Given the description of an element on the screen output the (x, y) to click on. 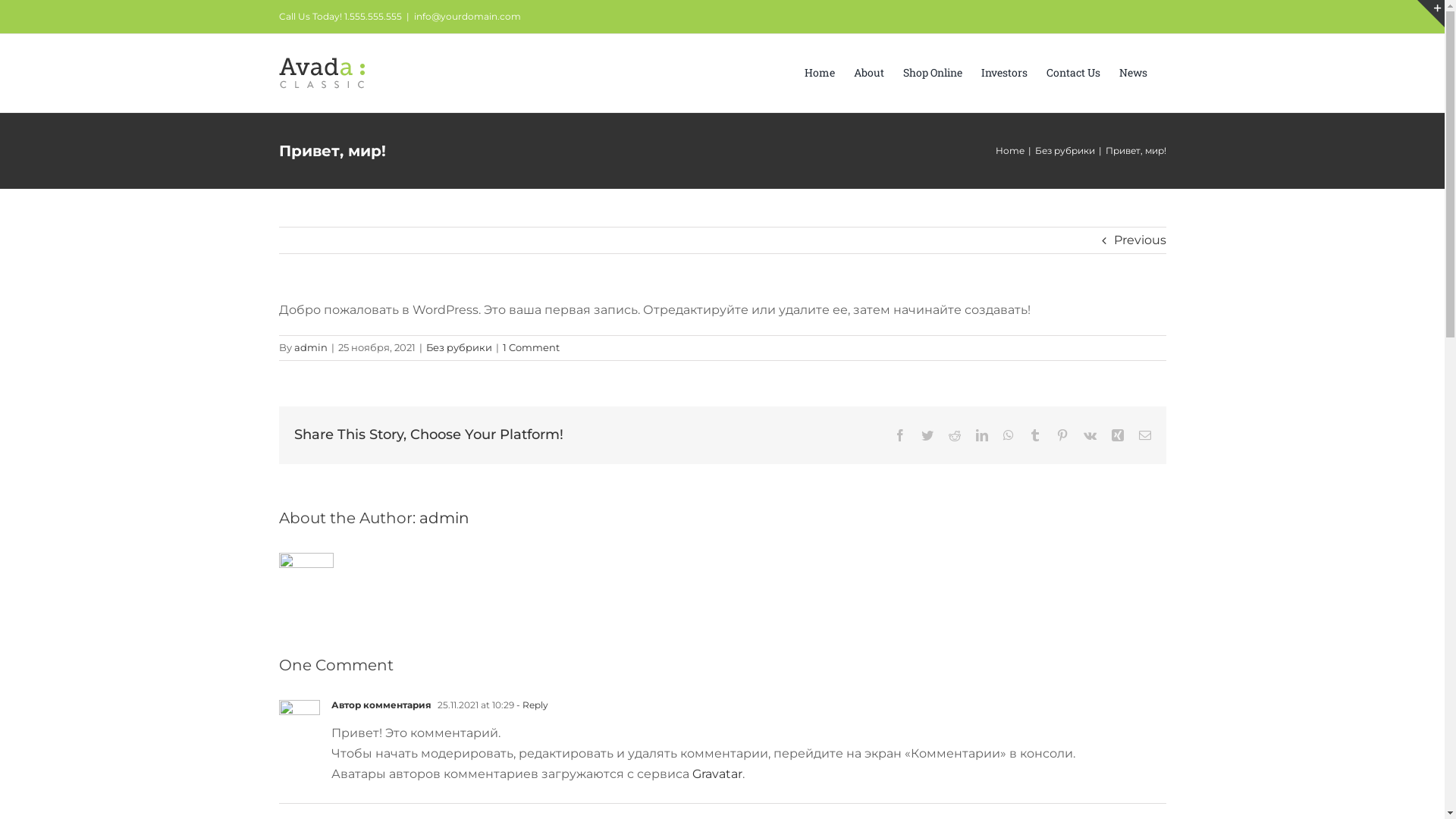
Reddit Element type: text (953, 435)
admin Element type: text (310, 347)
Shop Online Element type: text (931, 71)
info@yourdomain.com Element type: text (467, 15)
Investors Element type: text (1004, 71)
Contact Us Element type: text (1073, 71)
LinkedIn Element type: text (981, 435)
About Element type: text (868, 71)
Pinterest Element type: text (1061, 435)
Facebook Element type: text (899, 435)
Twitter Element type: text (926, 435)
Toggle Sliding Bar Area Element type: text (1430, 13)
News Element type: text (1133, 71)
Home Element type: text (818, 71)
Vk Element type: text (1088, 435)
WhatsApp Element type: text (1007, 435)
admin Element type: text (443, 517)
Email Element type: text (1145, 435)
Home Element type: text (1008, 150)
Tumblr Element type: text (1034, 435)
Gravatar Element type: text (716, 773)
1 Comment Element type: text (530, 347)
- Reply Element type: text (531, 704)
Xing Element type: text (1117, 435)
Previous Element type: text (1139, 240)
